Given the description of an element on the screen output the (x, y) to click on. 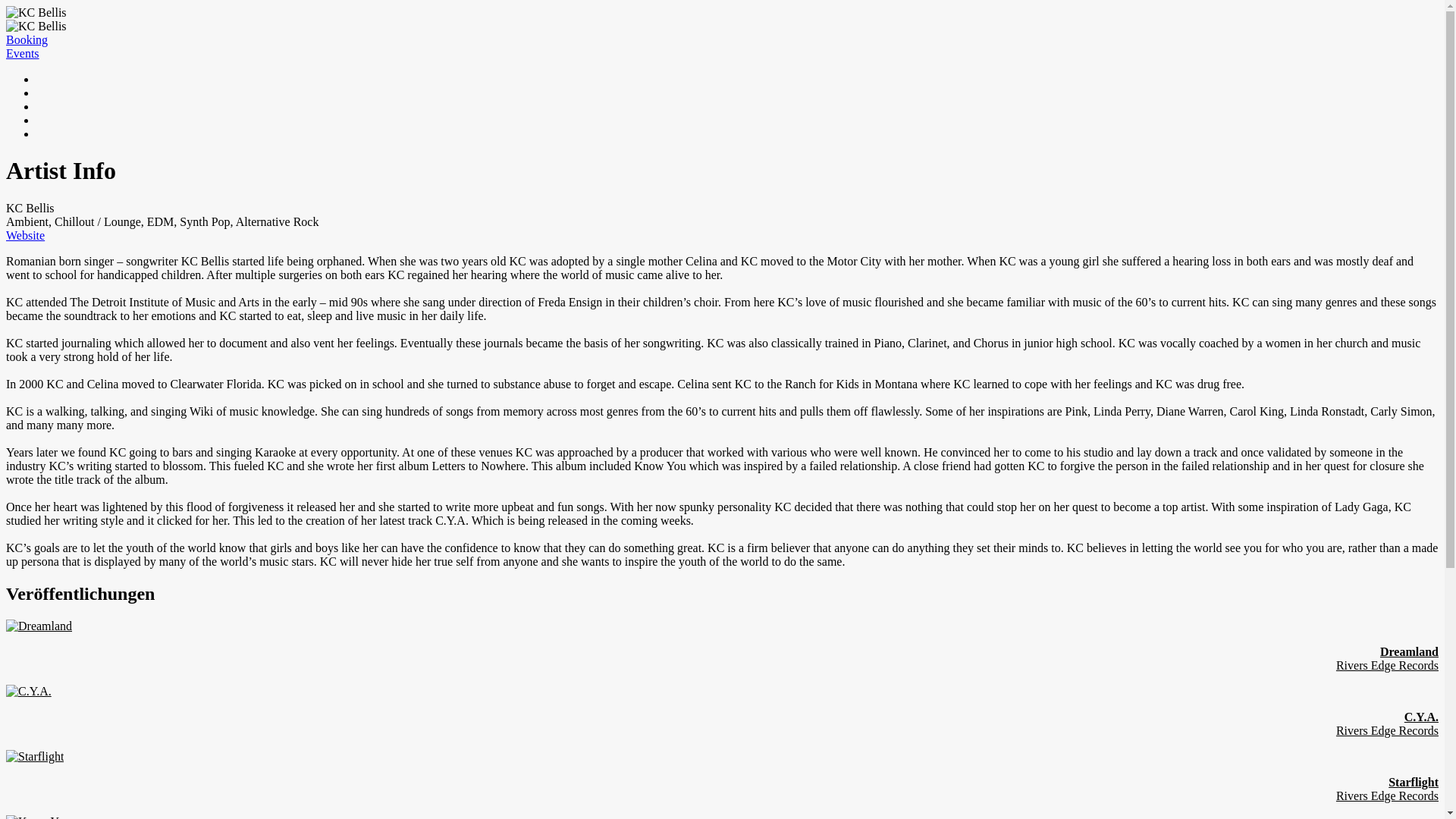
Website (25, 235)
Booking (26, 39)
Events (22, 52)
